Given the description of an element on the screen output the (x, y) to click on. 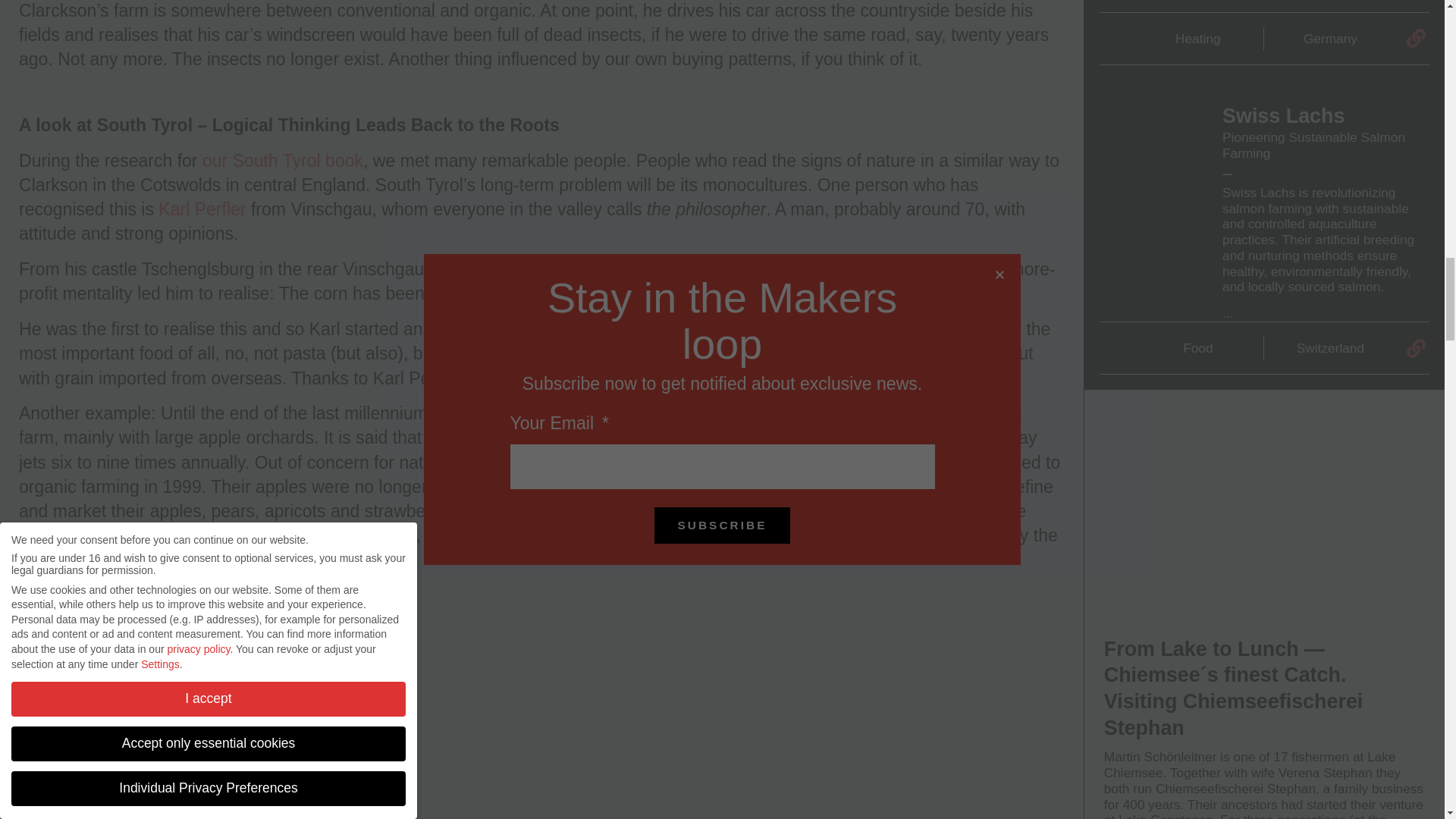
Makers-Bible-finder-Swiss-Lachs (1151, 160)
Luggin family farm in Laas (567, 413)
our South Tyrol book (282, 160)
Karl Perfler (202, 209)
